Given the description of an element on the screen output the (x, y) to click on. 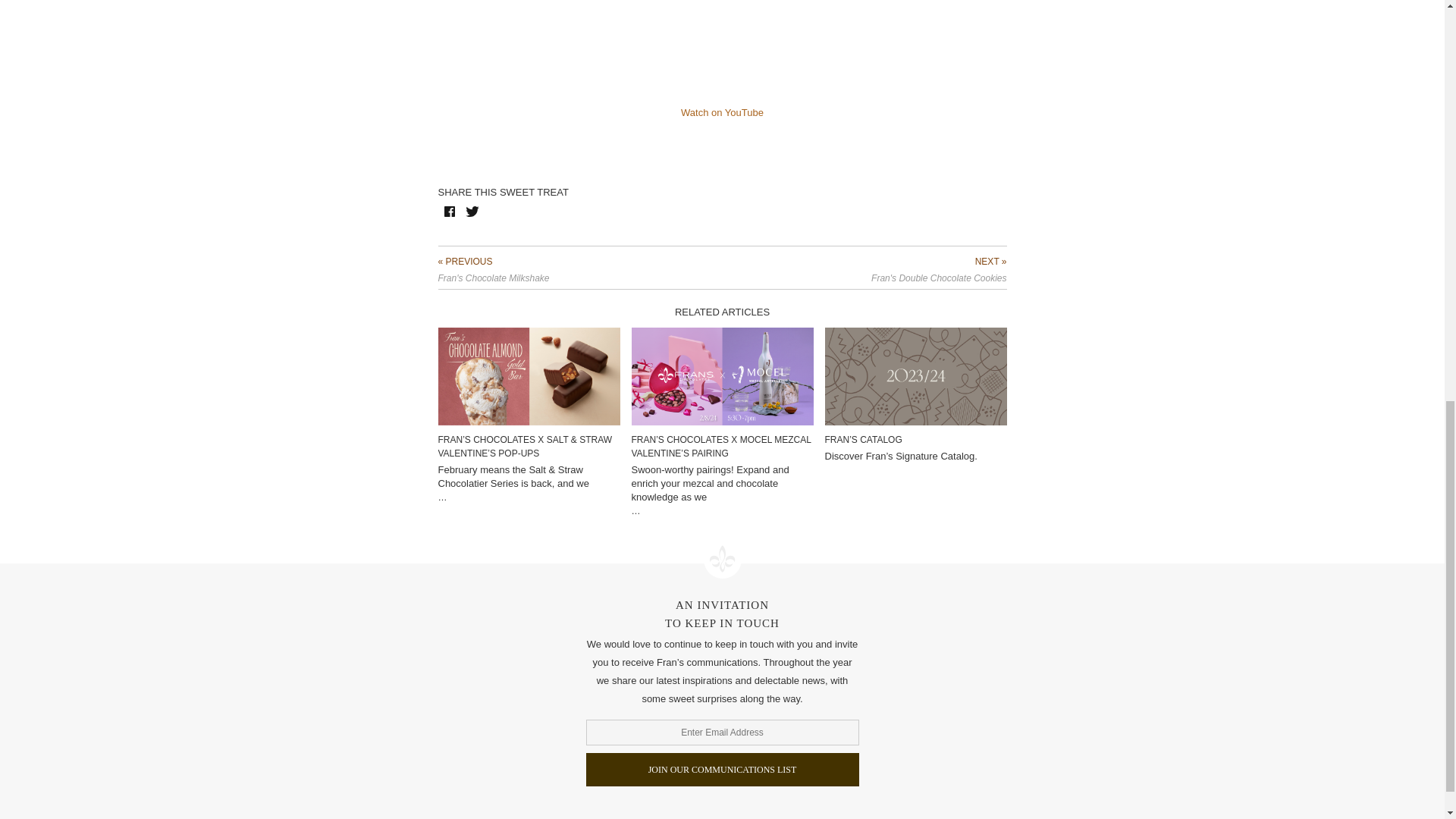
Watch on YouTube (721, 112)
Twitter (472, 210)
join our communications list (722, 769)
join our communications list (722, 769)
Facebook (449, 210)
